Given the description of an element on the screen output the (x, y) to click on. 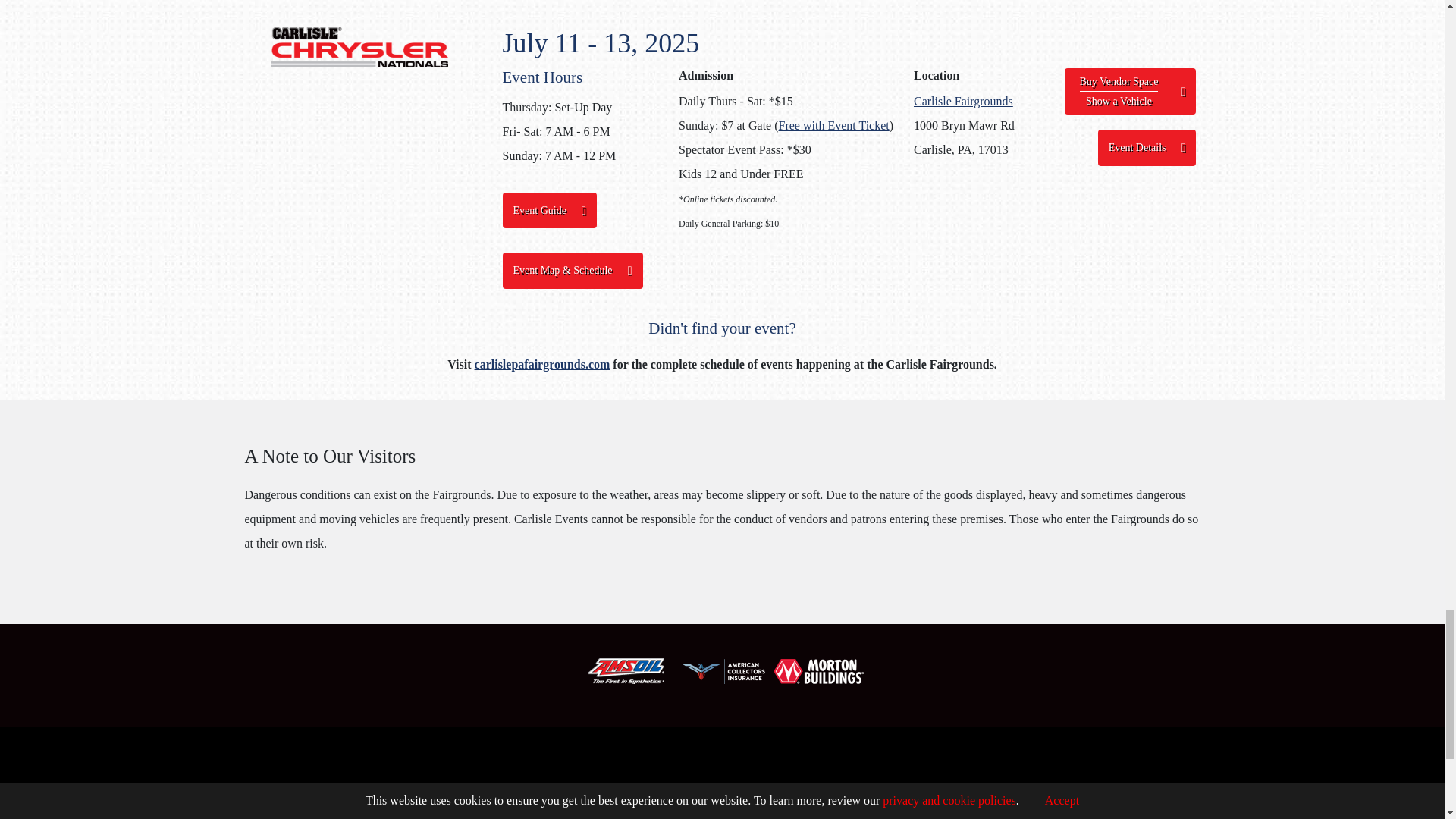
Footer Logo 125x125 - Morton Buildings (818, 671)
3rd party ad content (721, 768)
Carlisle Chrysler Nationals (359, 47)
